Given the description of an element on the screen output the (x, y) to click on. 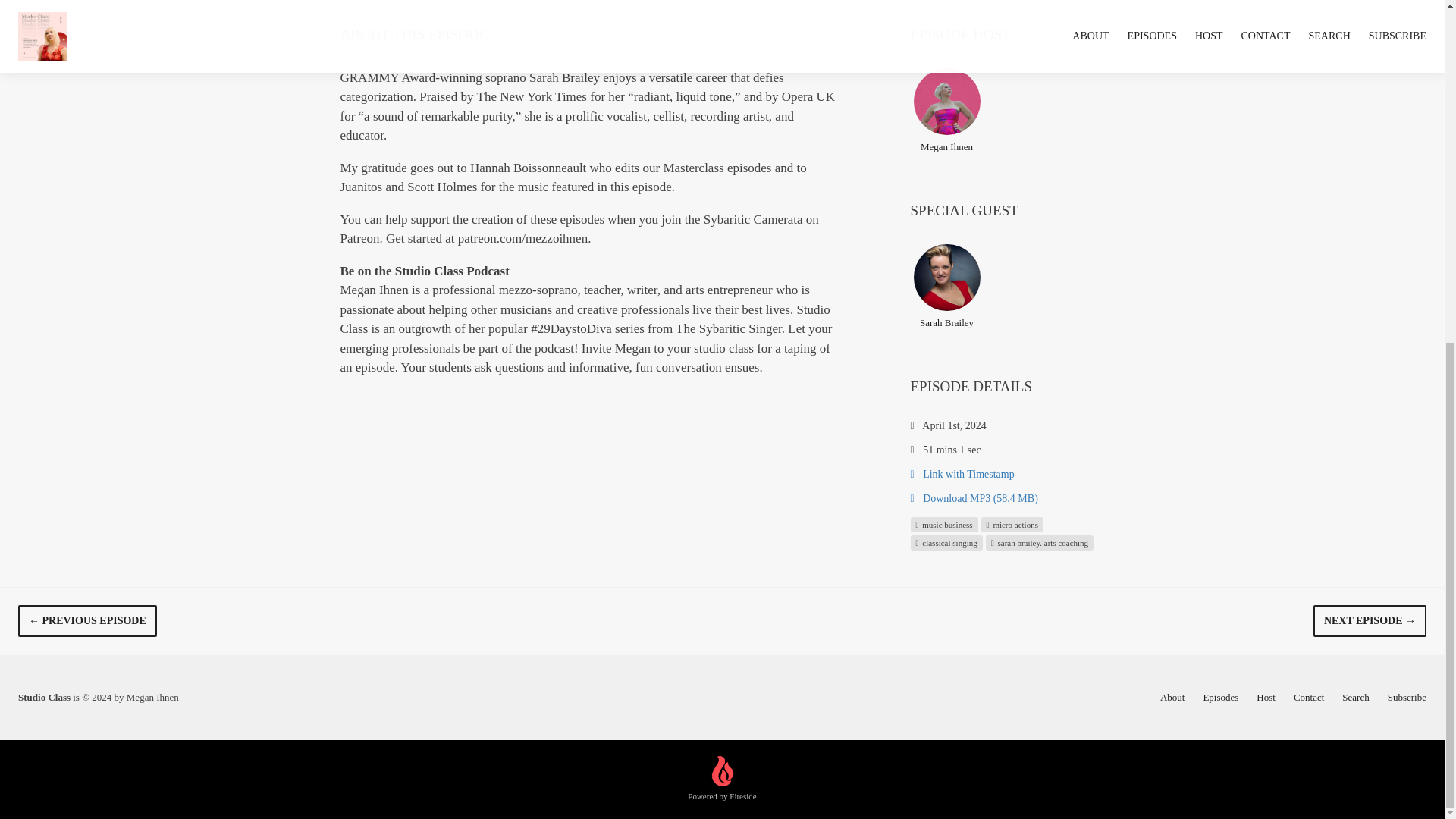
Powered by Fireside (721, 779)
Contact (1308, 696)
micro actions (1012, 523)
Subscribe (1406, 696)
About (1172, 696)
classical singing (945, 541)
Link with Timestamp (961, 473)
Search (1355, 696)
Host (1265, 696)
music business (943, 523)
